Given the description of an element on the screen output the (x, y) to click on. 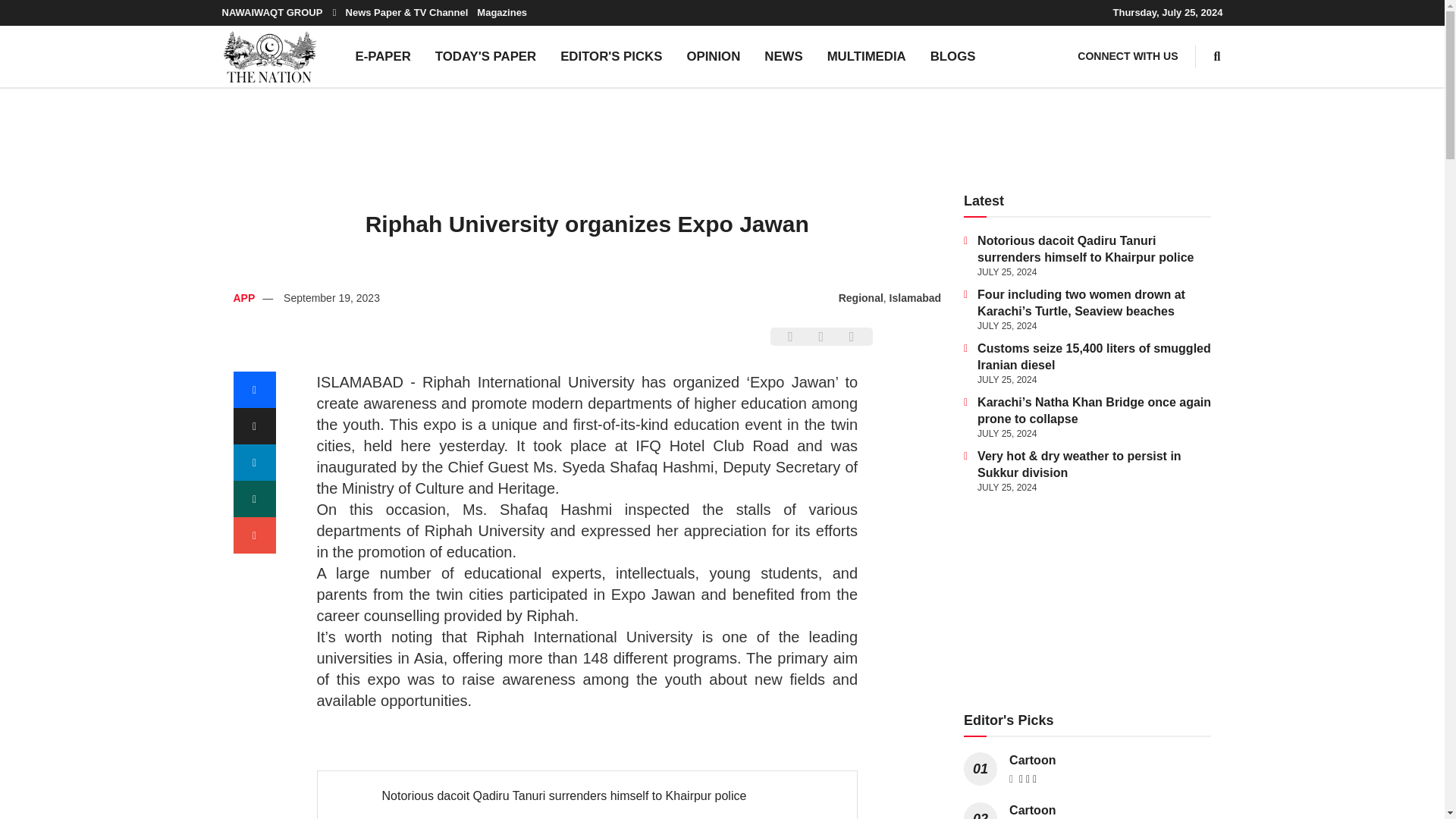
NEWS (782, 55)
Magazines (502, 12)
BLOGS (953, 55)
OPINION (713, 55)
TODAY'S PAPER (485, 55)
EDITOR'S PICKS (611, 55)
MULTIMEDIA (866, 55)
E-PAPER (382, 55)
